Given the description of an element on the screen output the (x, y) to click on. 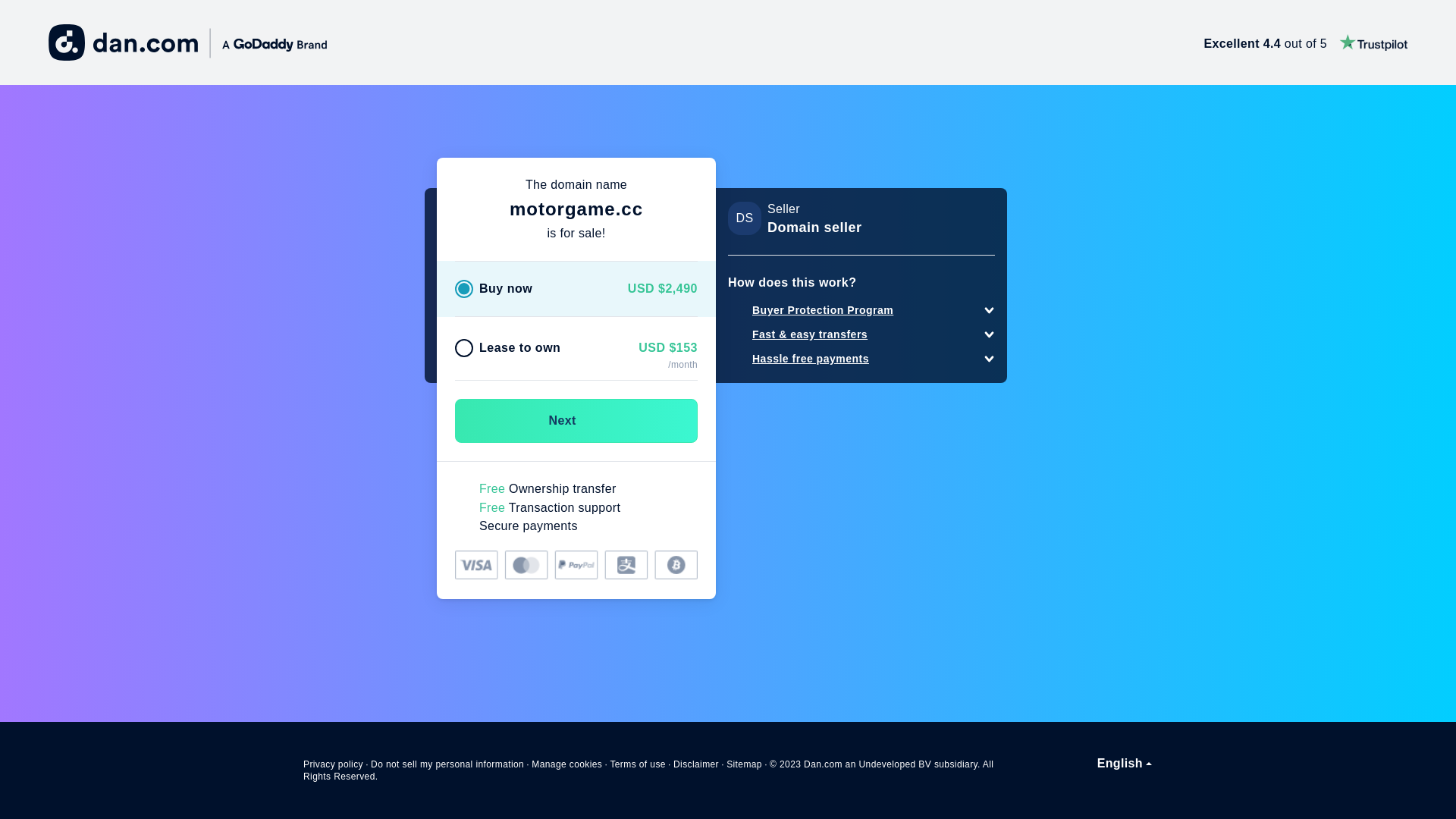
Excellent 4.4 out of 5 Element type: text (1305, 42)
English Element type: text (1124, 763)
Privacy policy Element type: text (333, 764)
Disclaimer Element type: text (695, 764)
Next
) Element type: text (576, 420)
Manage cookies Element type: text (566, 764)
Terms of use Element type: text (637, 764)
Sitemap Element type: text (744, 764)
Do not sell my personal information Element type: text (447, 764)
